Given the description of an element on the screen output the (x, y) to click on. 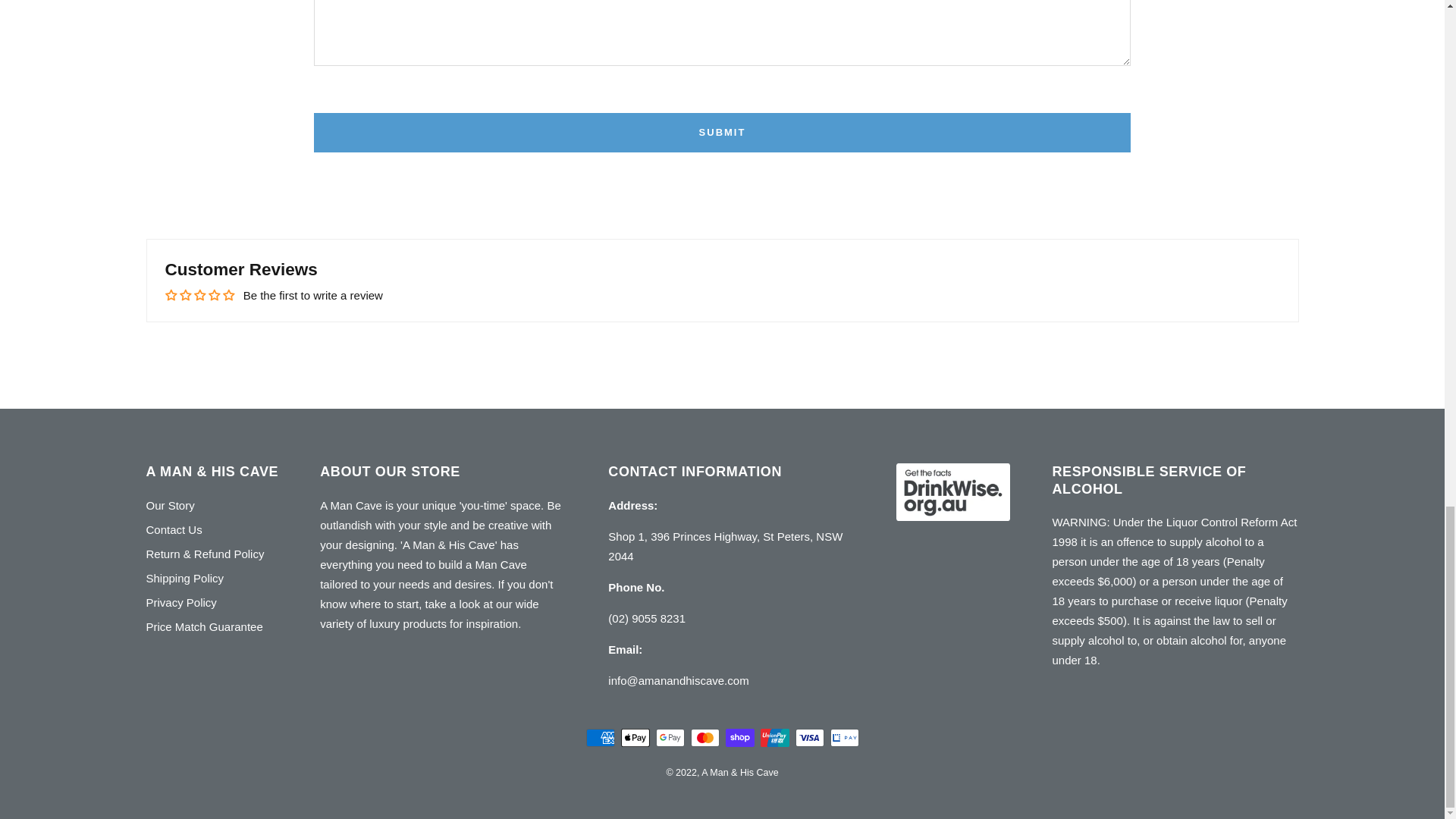
Our Story (169, 505)
Privacy Policy (180, 602)
Contact Us (173, 529)
Shipping Policy (184, 578)
Price Match Guarantee (203, 627)
tel:0290558231 (646, 617)
SUBMIT (722, 132)
